Given the description of an element on the screen output the (x, y) to click on. 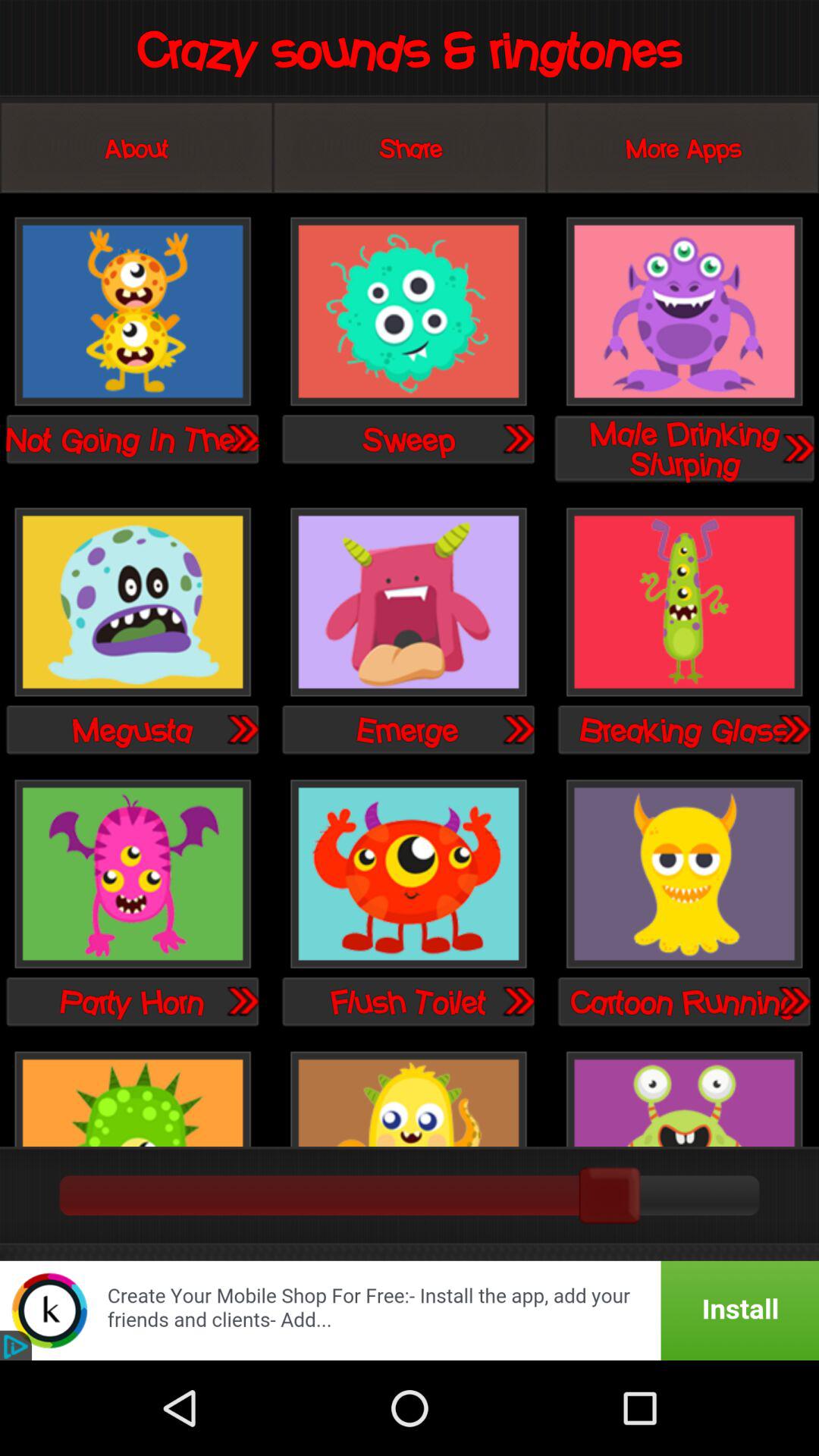
switch megusta (132, 602)
